Given the description of an element on the screen output the (x, y) to click on. 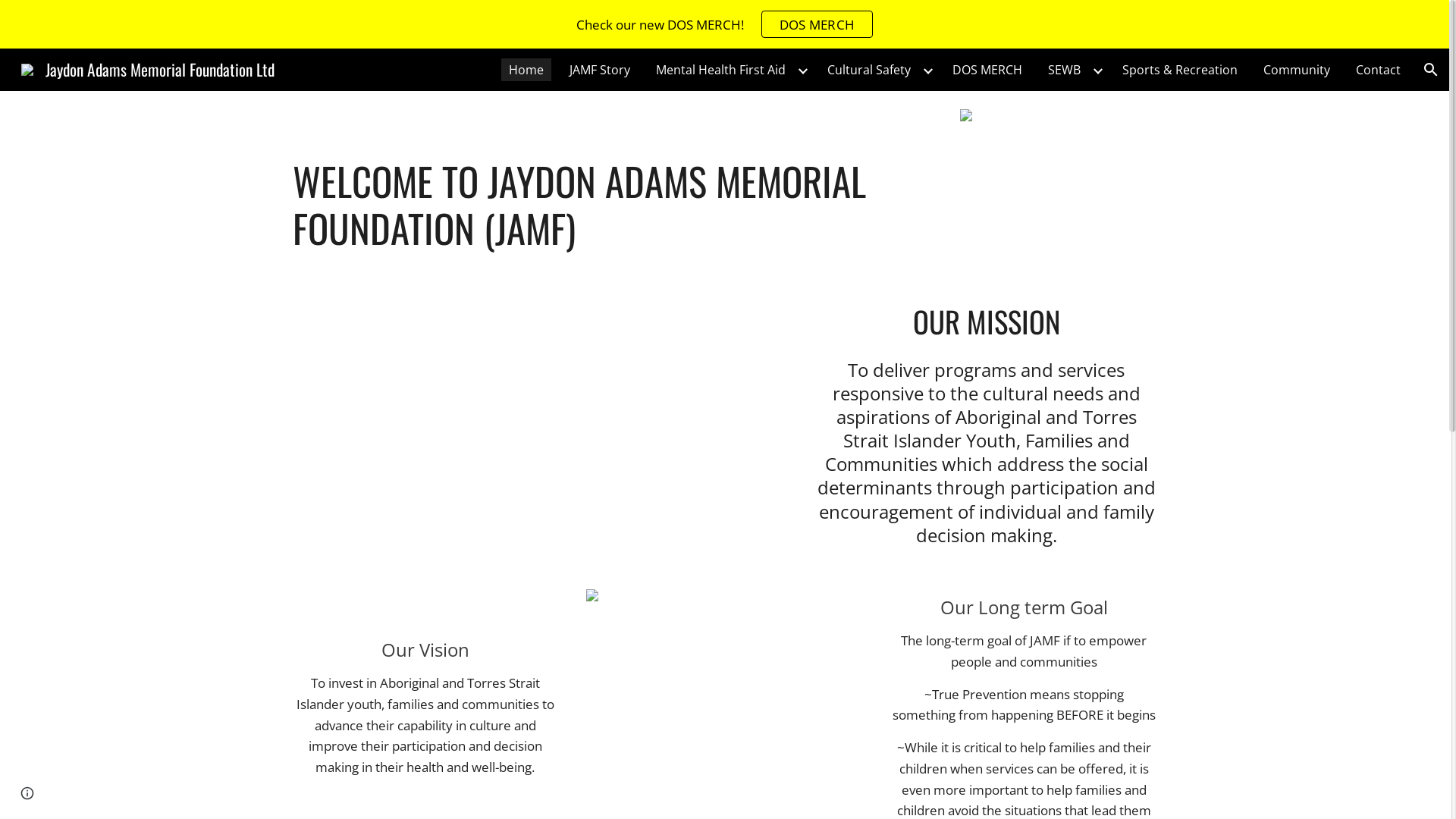
Sports & Recreation Element type: text (1179, 69)
Cultural Safety Element type: text (868, 69)
Community Element type: text (1296, 69)
Expand/Collapse Element type: hover (802, 69)
JAMF Story Element type: text (599, 69)
Contact Element type: text (1378, 69)
SEWB Element type: text (1064, 69)
Home Element type: text (526, 69)
Jaydon Adams Memorial Foundation Ltd Element type: text (147, 66)
Expand/Collapse Element type: hover (927, 69)
DOS MERCH Element type: text (986, 69)
Expand/Collapse Element type: hover (1097, 69)
Mental Health First Aid Element type: text (720, 69)
DOS MERCH Element type: text (817, 24)
